Given the description of an element on the screen output the (x, y) to click on. 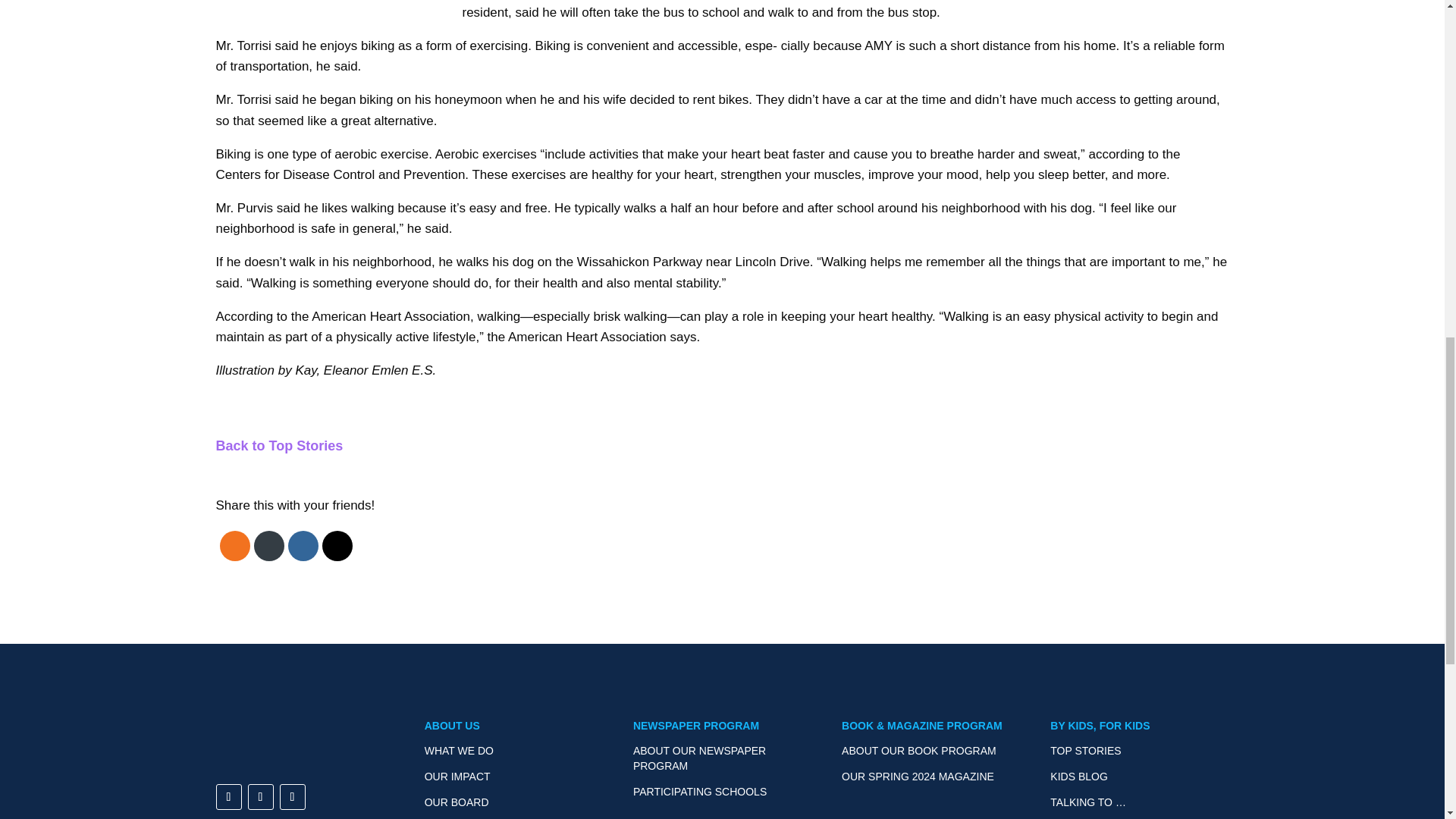
Follow on Facebook (228, 796)
Follow on Instagram (260, 796)
RSS (234, 545)
Twitter (337, 545)
Follow by Email (269, 545)
Facebook (302, 545)
Follow on LinkedIn (291, 796)
Back to Top Stories (278, 445)
WHAT WE DO (459, 750)
